Given the description of an element on the screen output the (x, y) to click on. 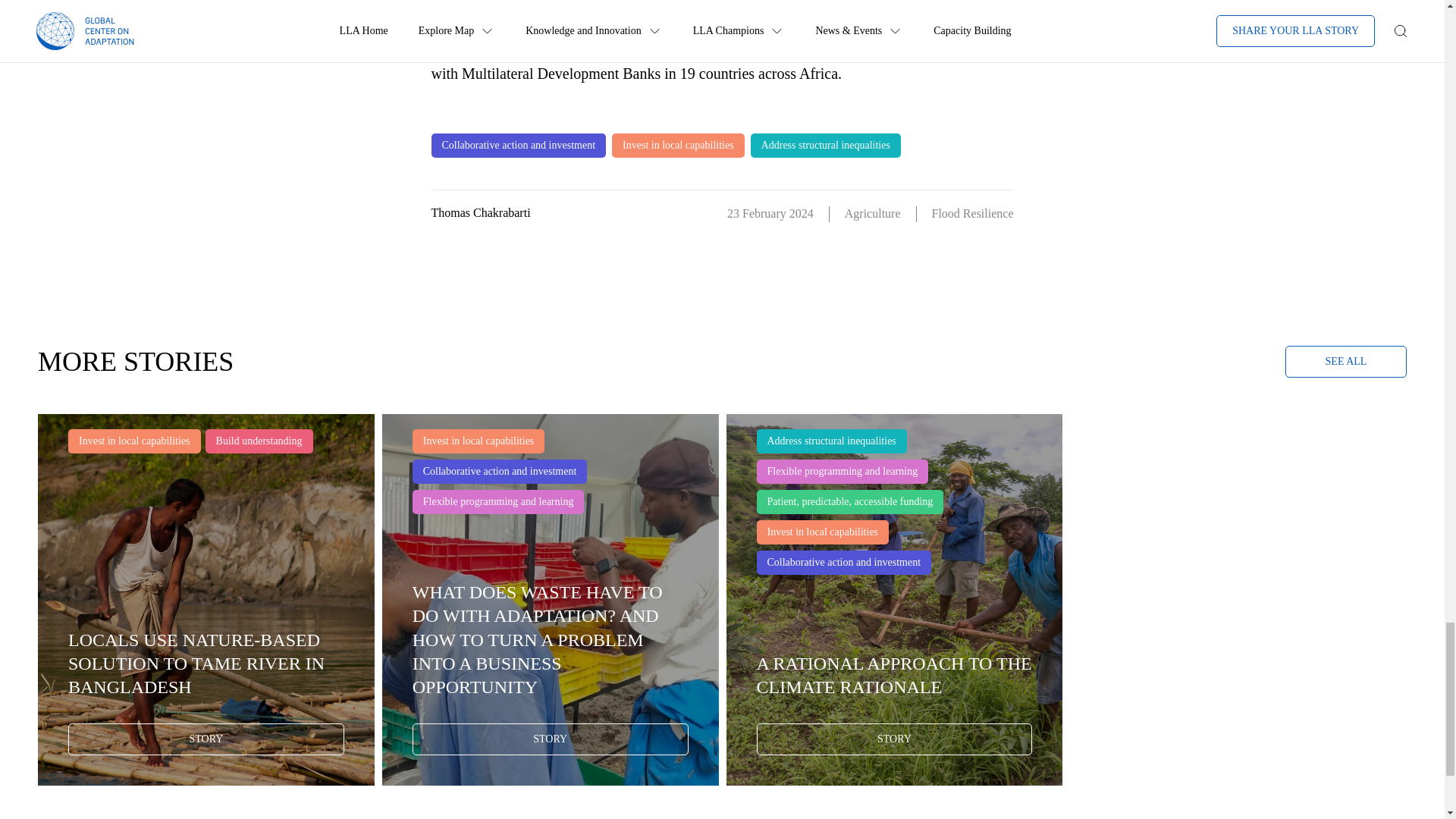
Invest in local capabilities (677, 145)
Collaborative action and investment (517, 145)
Address structural inequalities (826, 145)
